Given the description of an element on the screen output the (x, y) to click on. 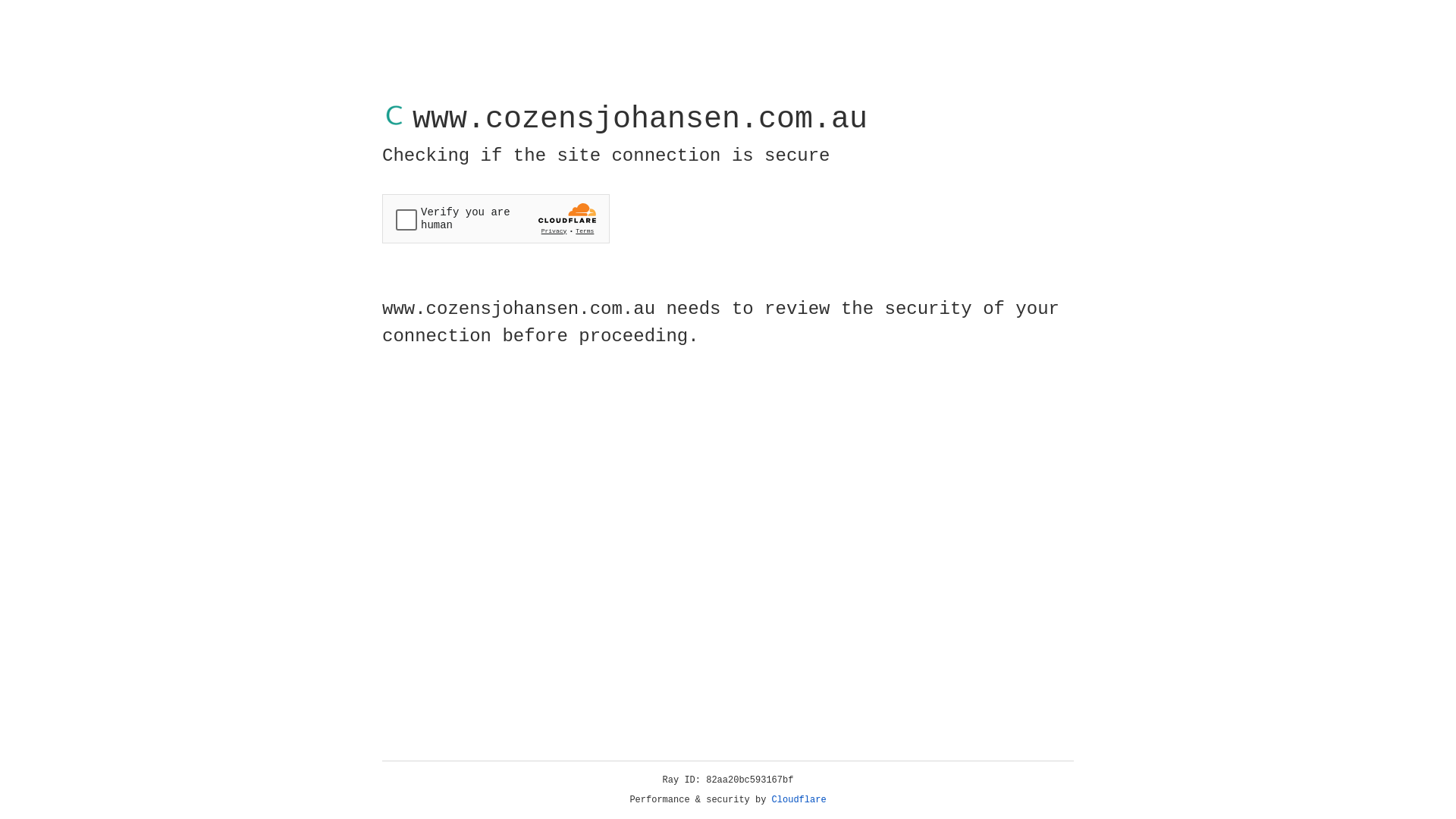
Widget containing a Cloudflare security challenge Element type: hover (495, 218)
Cloudflare Element type: text (798, 799)
